Given the description of an element on the screen output the (x, y) to click on. 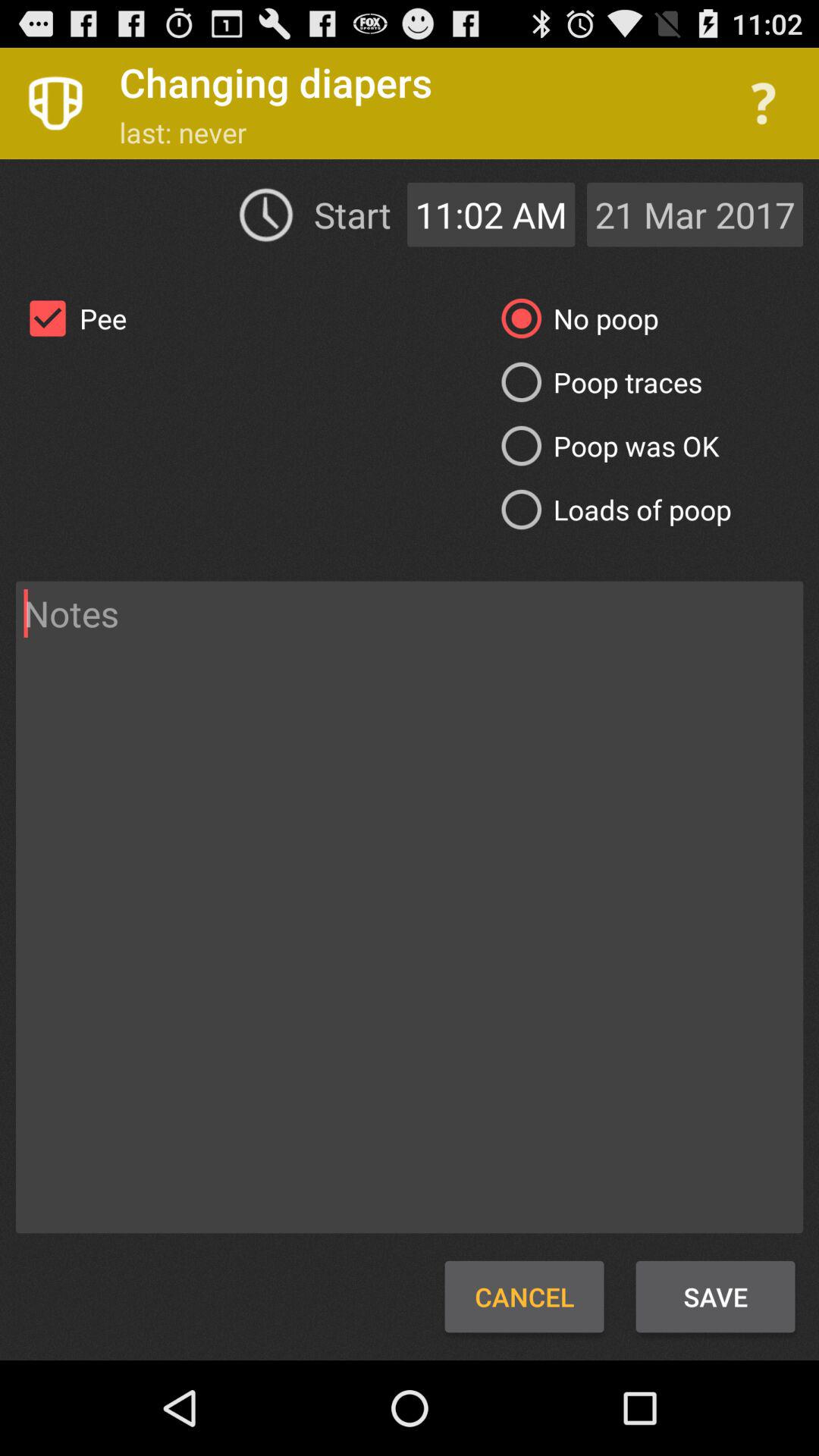
the support option (763, 103)
